Given the description of an element on the screen output the (x, y) to click on. 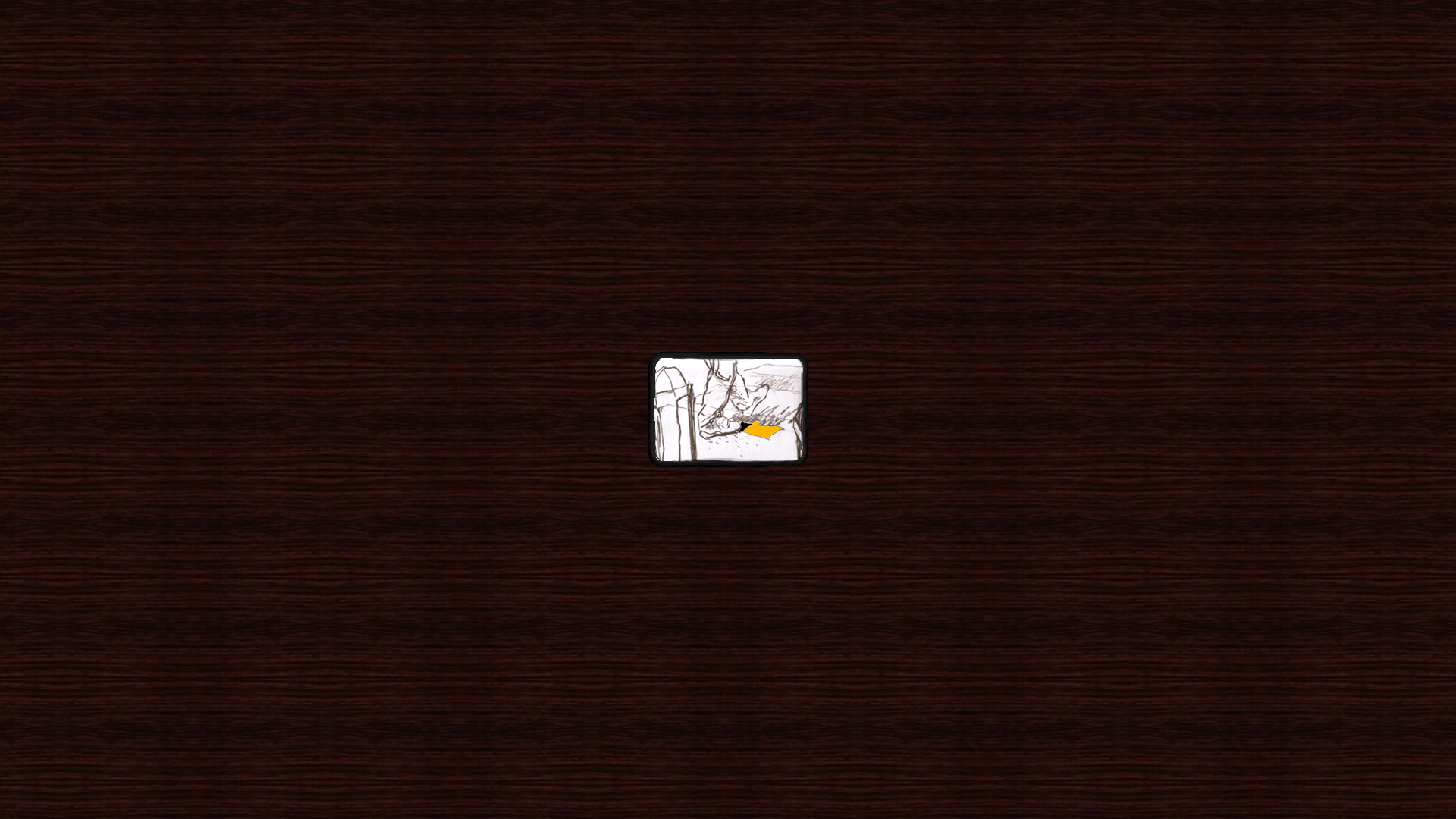
dayout Element type: hover (728, 410)
